Given the description of an element on the screen output the (x, y) to click on. 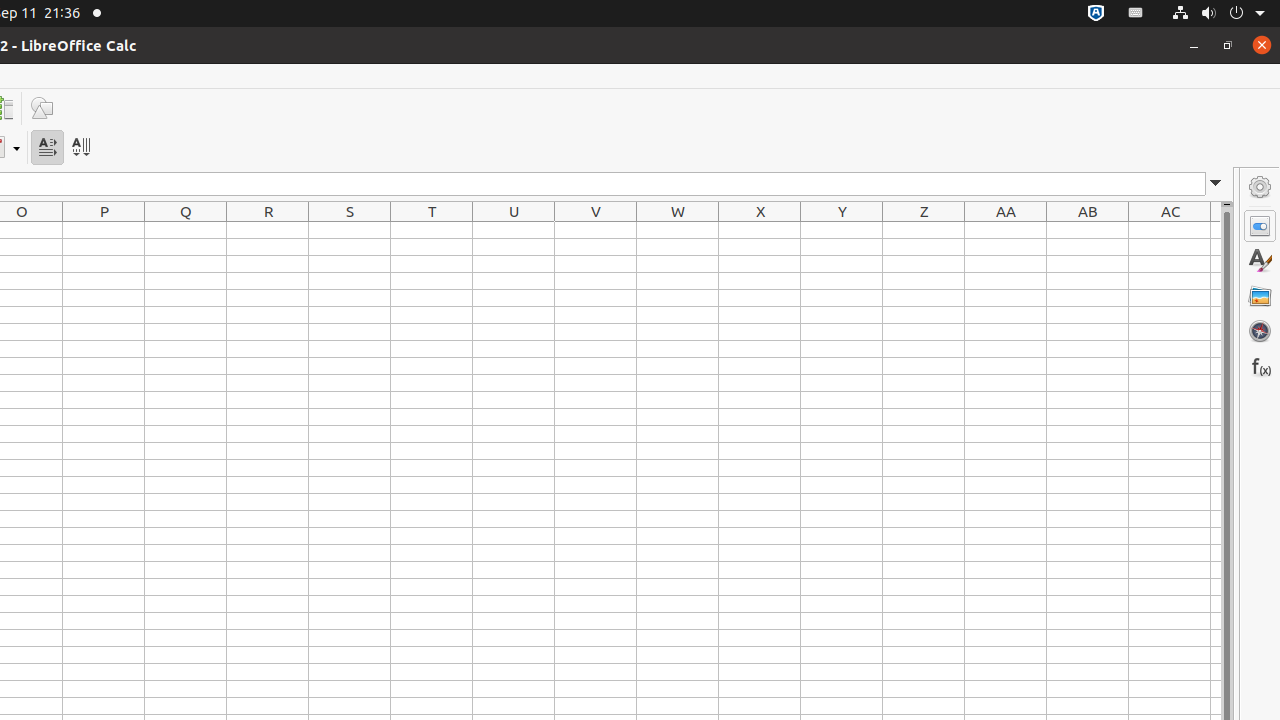
Functions Element type: radio-button (1260, 366)
Properties Element type: radio-button (1260, 226)
Navigator Element type: radio-button (1260, 331)
T1 Element type: table-cell (432, 230)
S1 Element type: table-cell (350, 230)
